Given the description of an element on the screen output the (x, y) to click on. 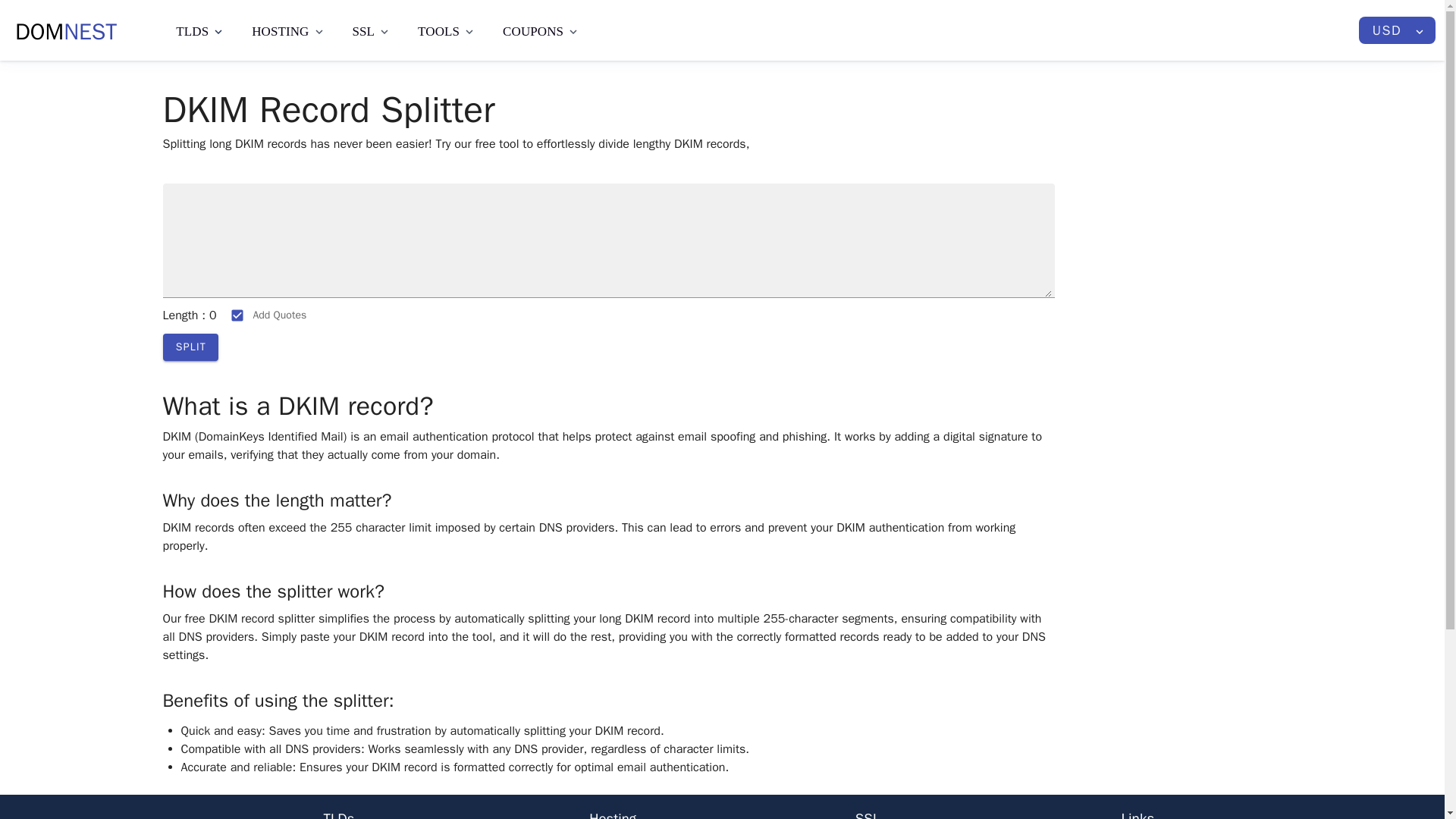
SSL (370, 29)
HOSTING (288, 29)
TLDS (65, 31)
SPLIT (200, 29)
USD (189, 347)
COUPONS (1396, 30)
TOOLS (541, 29)
